Given the description of an element on the screen output the (x, y) to click on. 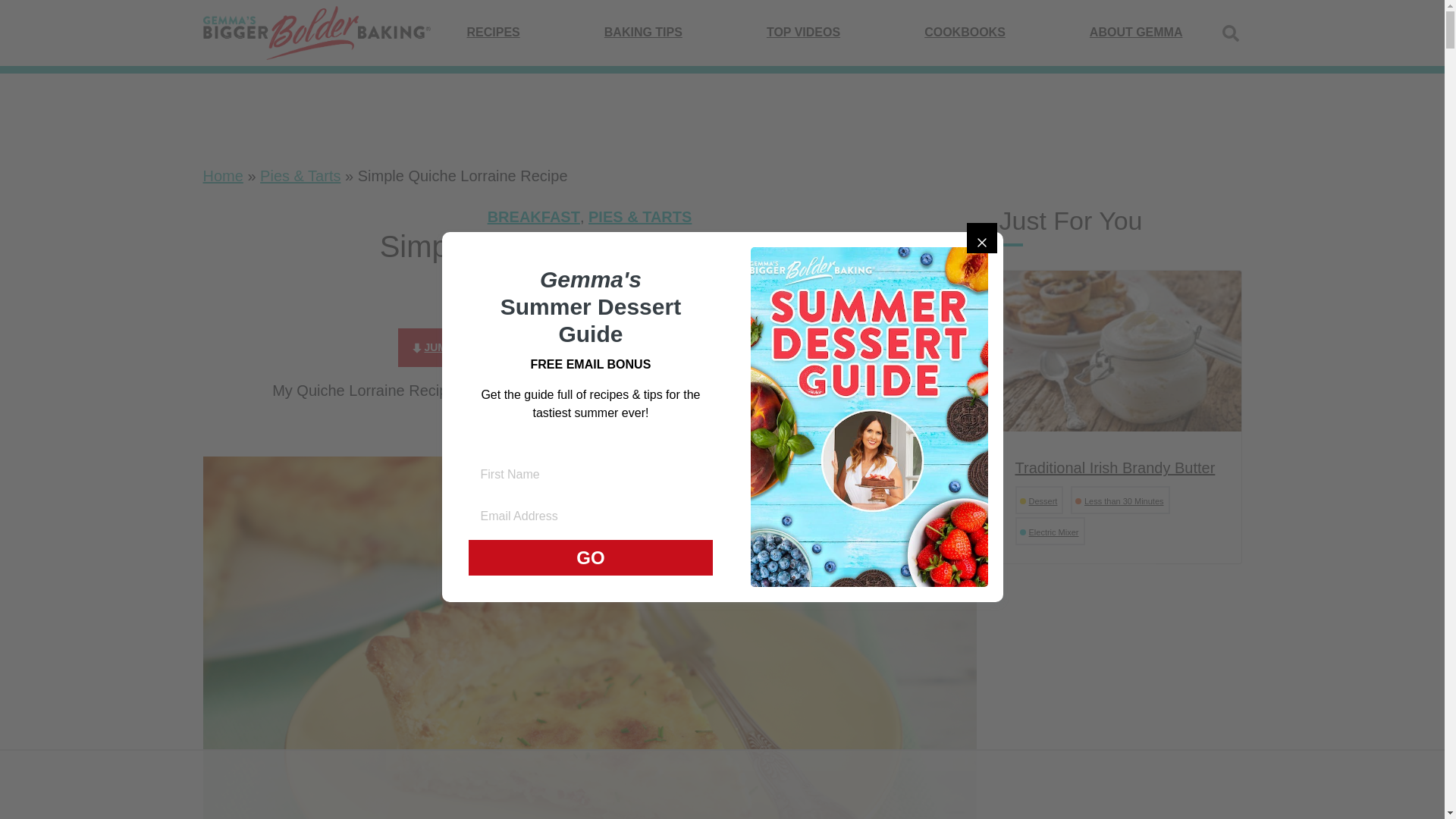
BREAKFAST (533, 216)
RECIPES (493, 31)
TOP VIDEOS (803, 31)
ABOUT GEMMA (1135, 31)
BAKING TIPS (643, 31)
Home (223, 175)
JUMP TO VIDEO (597, 347)
Search (1230, 33)
COOKBOOKS (965, 31)
JUMP TO RECIPE (461, 347)
